Given the description of an element on the screen output the (x, y) to click on. 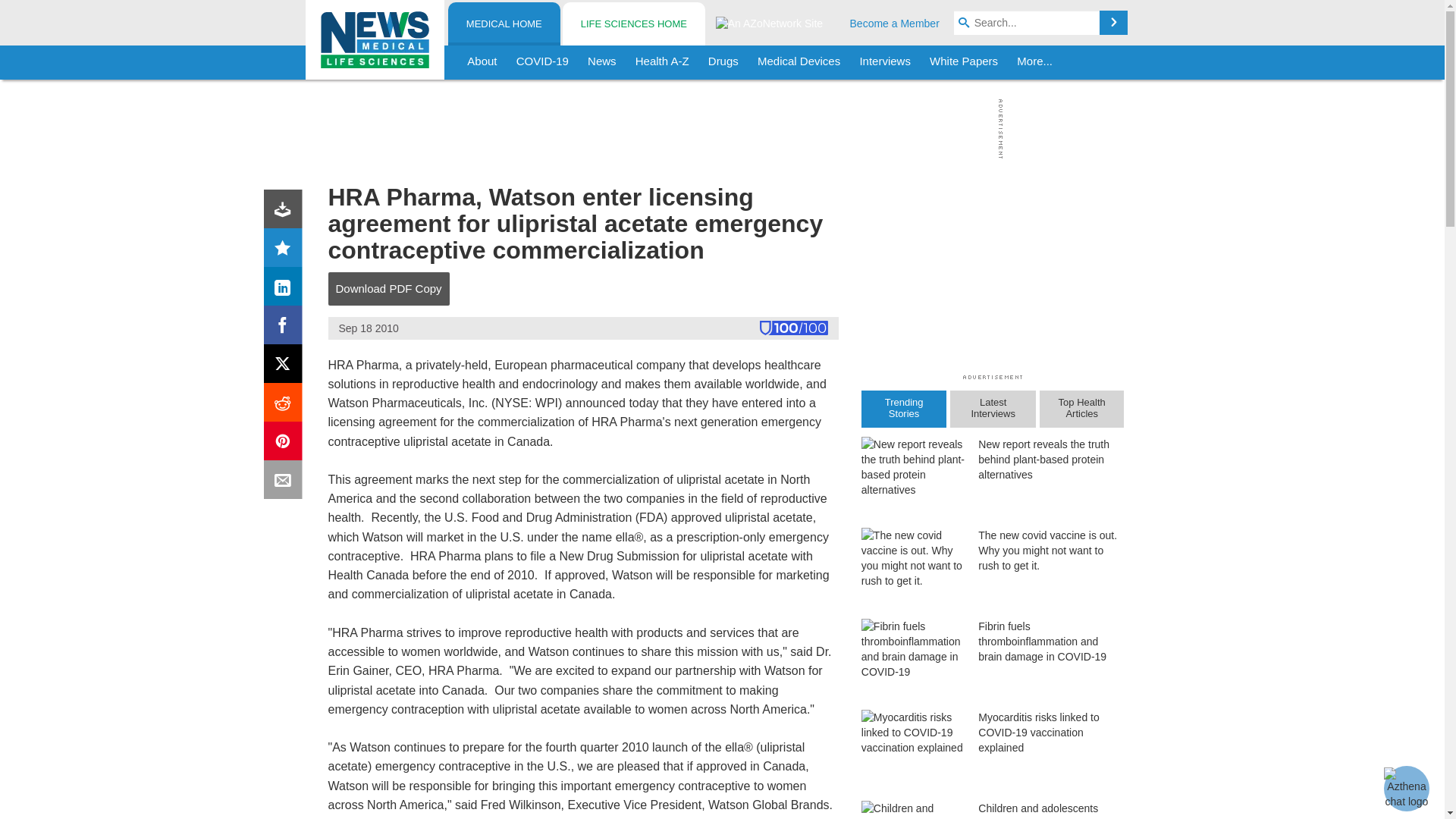
More... (1035, 62)
Drugs (722, 62)
Rating (285, 250)
Facebook (285, 328)
LIFE SCIENCES HOME (633, 23)
Reddit (285, 405)
Download PDF copy (285, 212)
About (482, 62)
Interviews (884, 62)
